Given the description of an element on the screen output the (x, y) to click on. 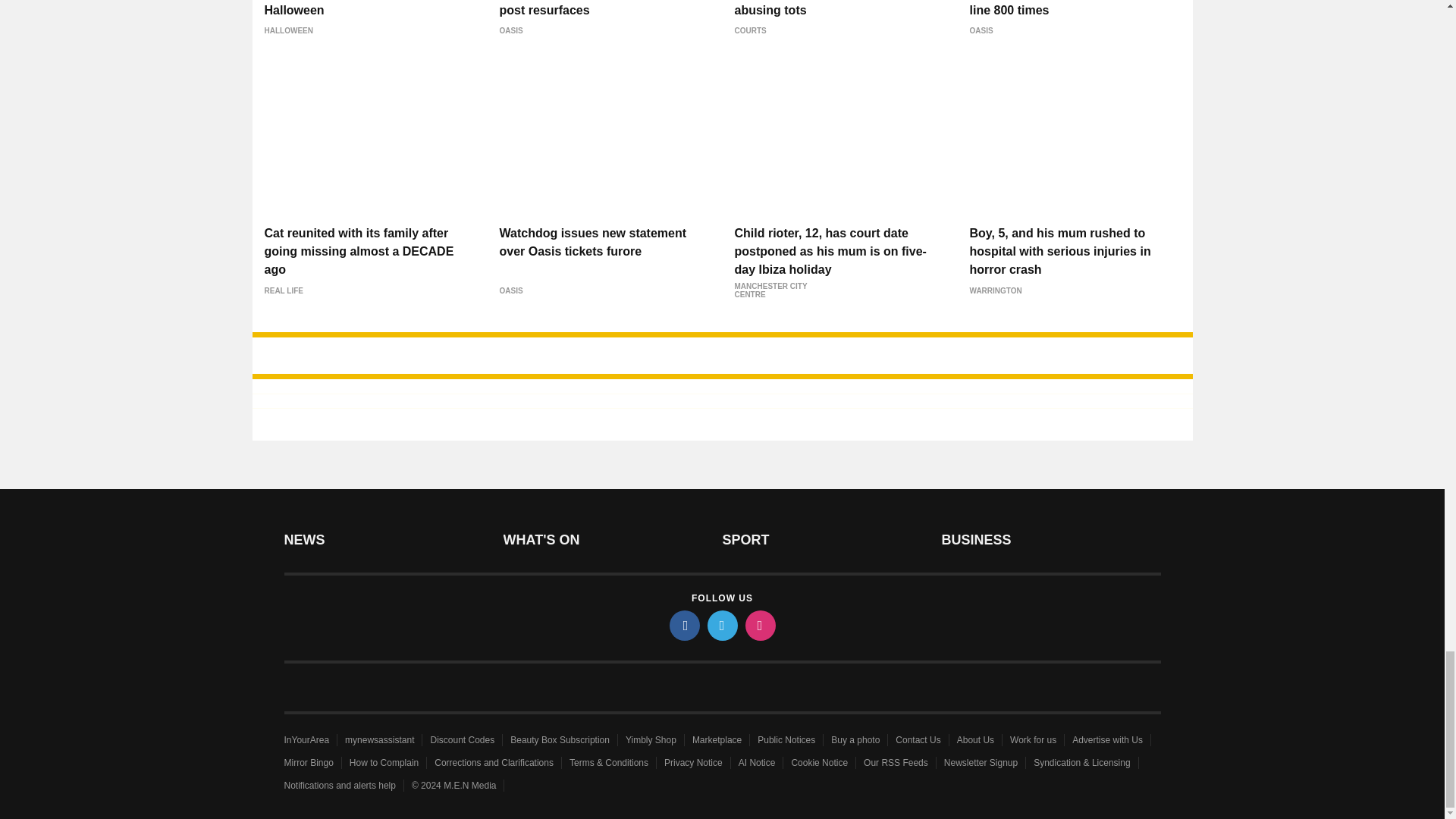
twitter (721, 625)
instagram (759, 625)
facebook (683, 625)
